Given the description of an element on the screen output the (x, y) to click on. 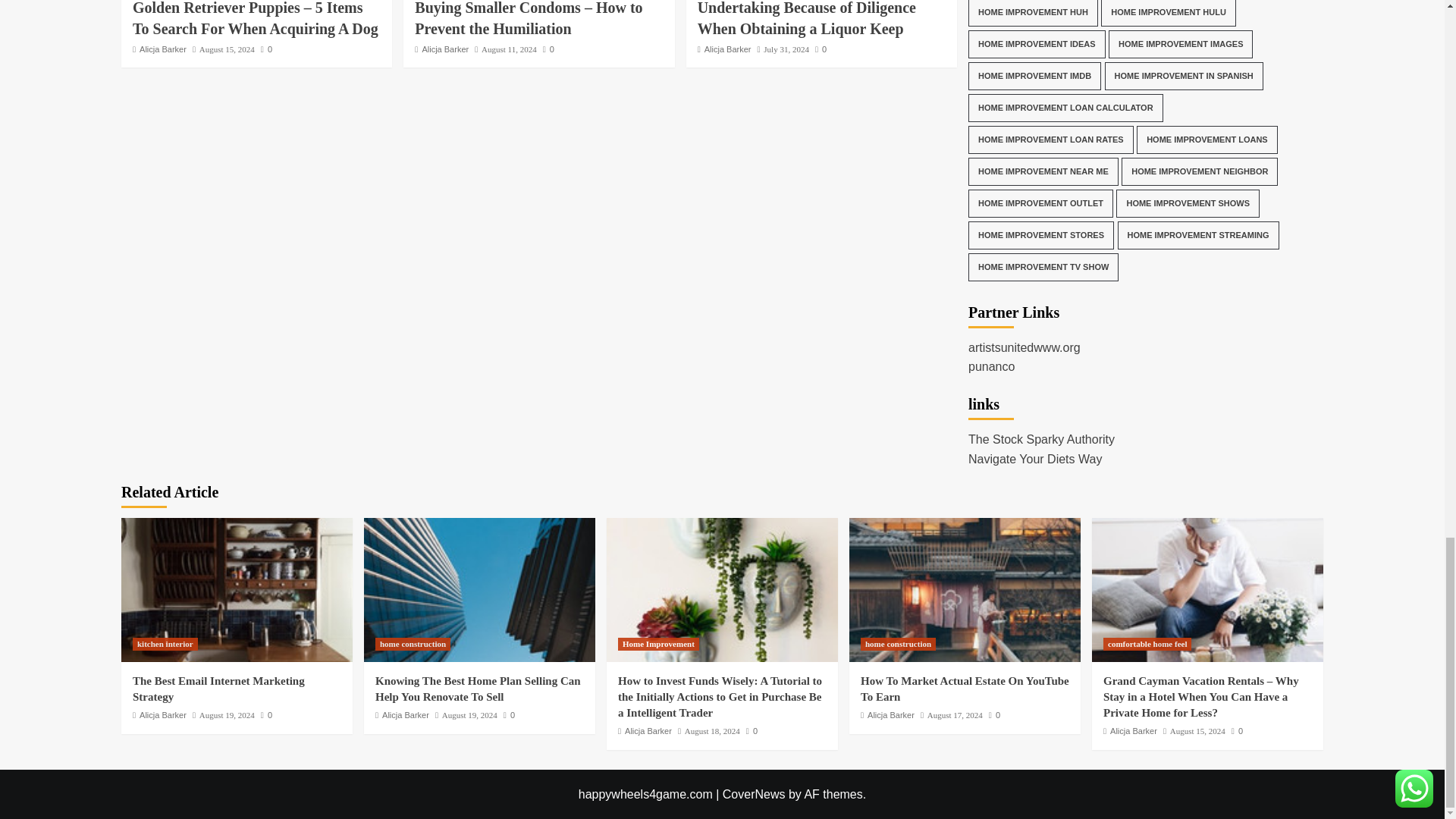
0 (266, 49)
How To Market Actual Estate On YouTube To Earn (964, 589)
The Best Email Internet Marketing Strategy (236, 589)
Alicja Barker (162, 49)
August 15, 2024 (226, 49)
